Given the description of an element on the screen output the (x, y) to click on. 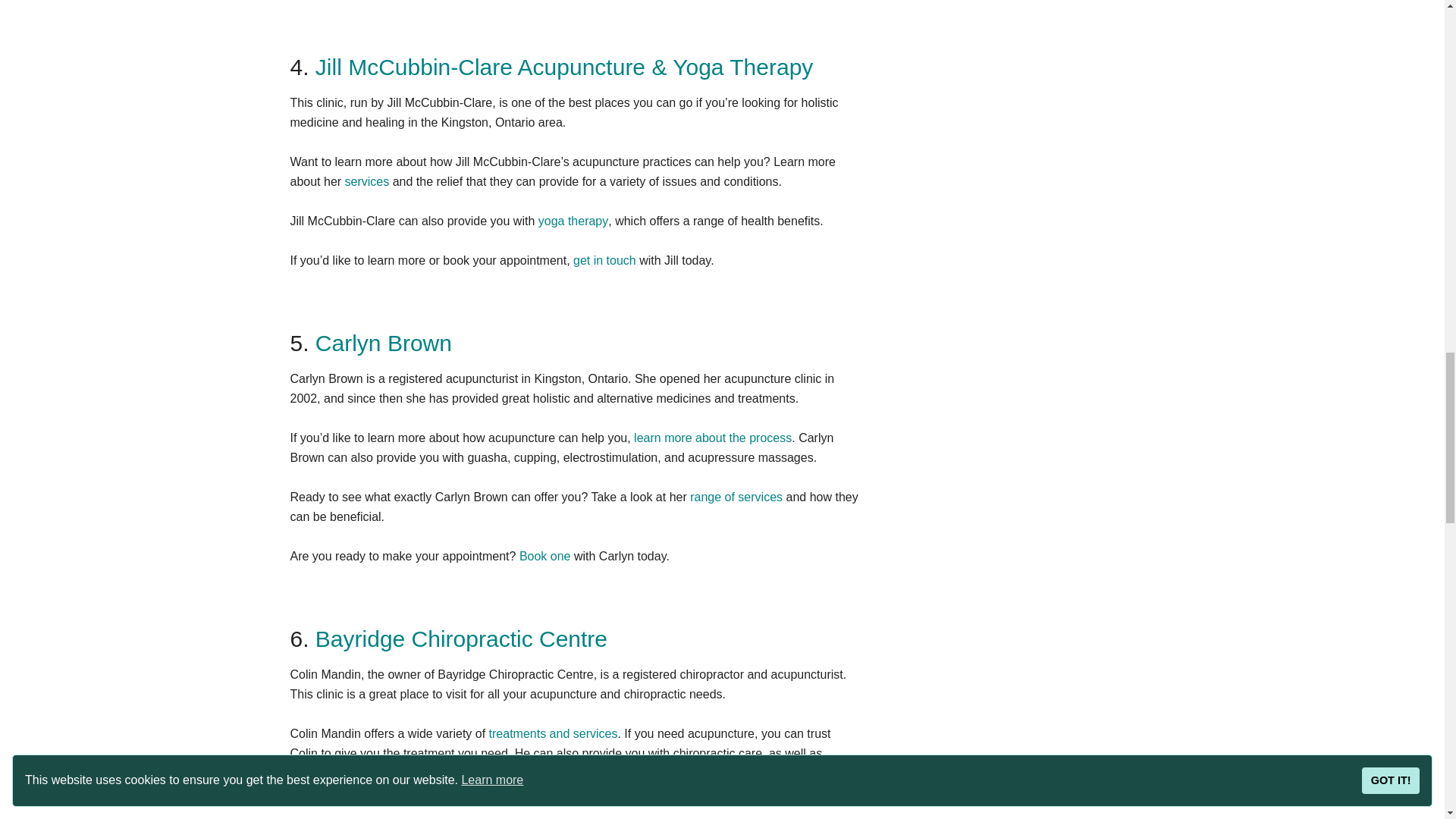
treatments and services (553, 733)
range of services (736, 496)
Bayridge Chiropractic Centre (461, 638)
yoga therapy (573, 220)
services (367, 181)
learn more about the process (712, 437)
get in touch (604, 259)
Carlyn Brown (383, 342)
Book one (544, 555)
